Given the description of an element on the screen output the (x, y) to click on. 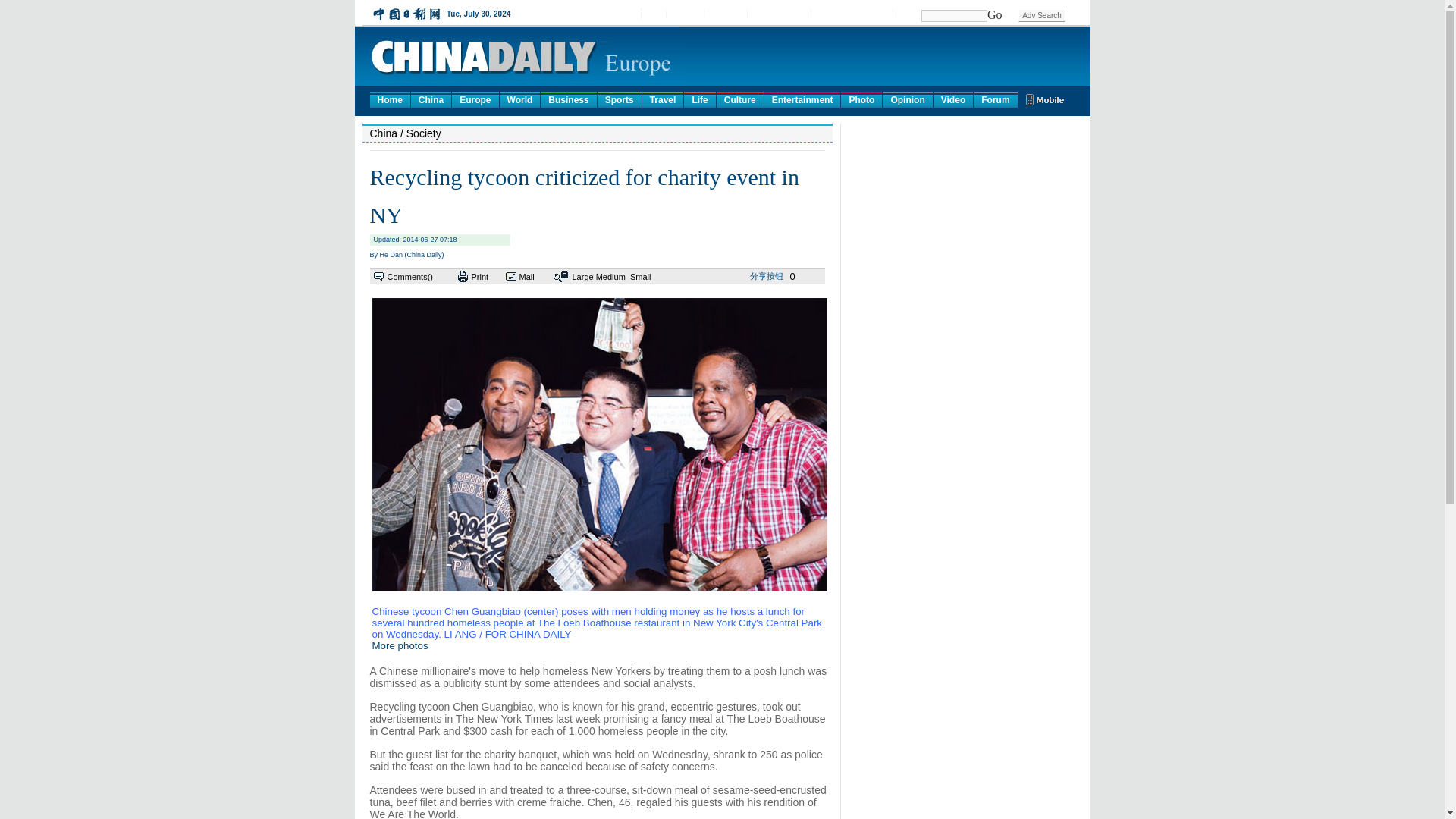
China (430, 99)
Life (699, 99)
World (519, 99)
Home (389, 99)
Business (567, 99)
Travel (663, 99)
Sports (619, 99)
Europe (474, 99)
